Given the description of an element on the screen output the (x, y) to click on. 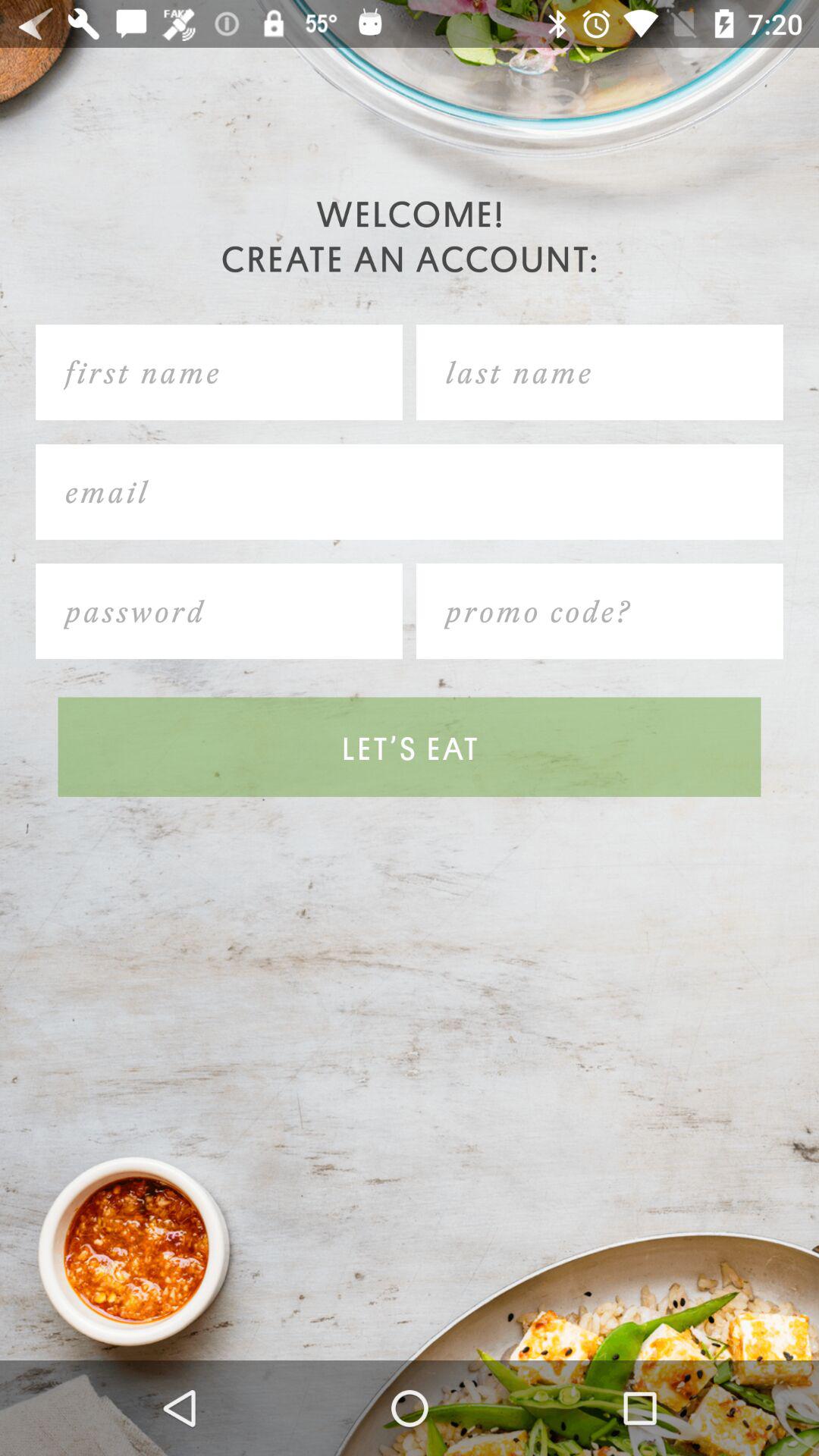
enter last name (599, 372)
